Given the description of an element on the screen output the (x, y) to click on. 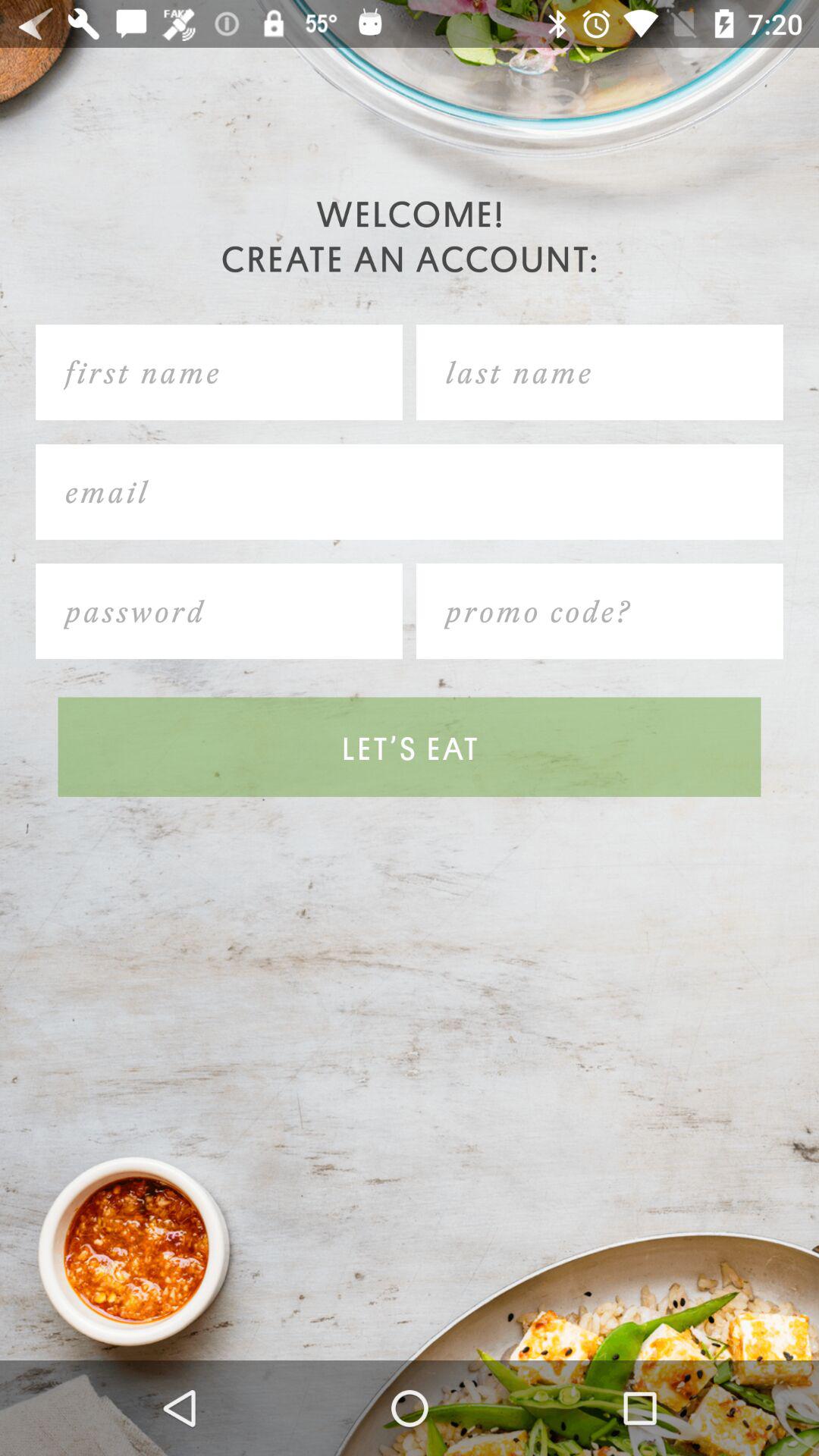
enter last name (599, 372)
